Given the description of an element on the screen output the (x, y) to click on. 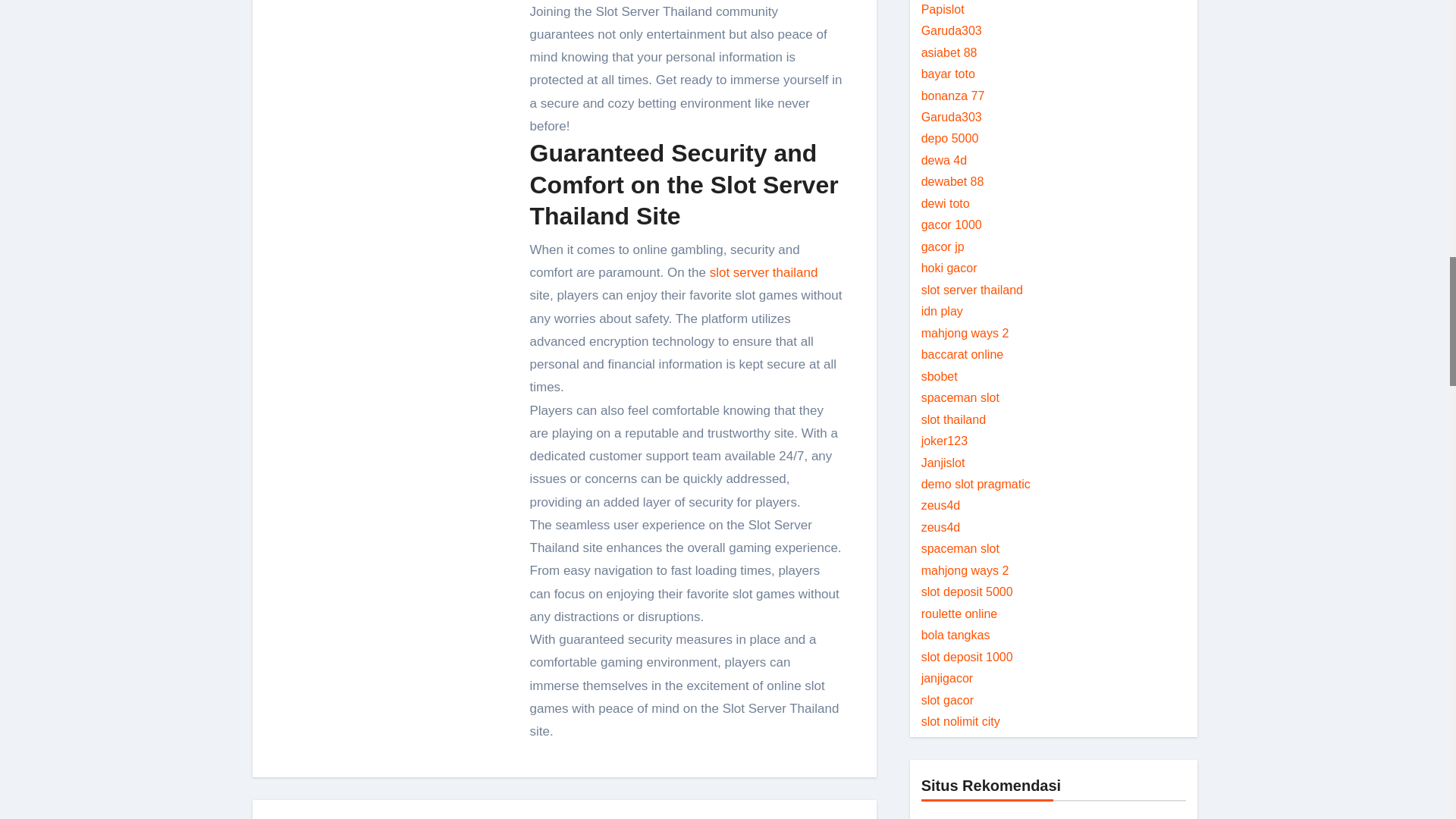
slot server thailand (761, 272)
